Given the description of an element on the screen output the (x, y) to click on. 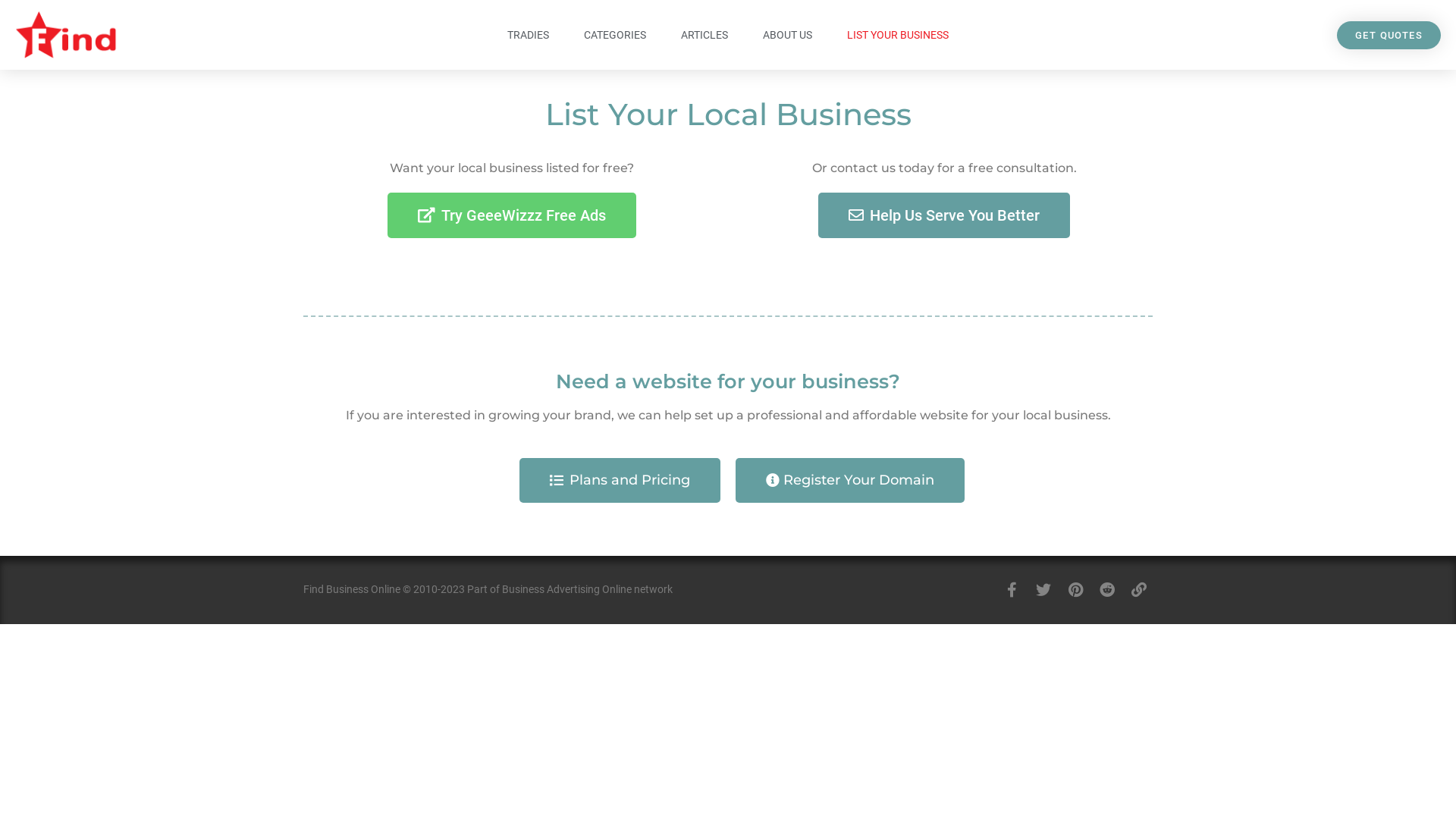
GET QUOTES Element type: text (1388, 35)
Register Your Domain Element type: text (849, 480)
ABOUT US Element type: text (787, 34)
Plans and Pricing Element type: text (619, 480)
ARTICLES Element type: text (704, 34)
LIST YOUR BUSINESS Element type: text (897, 34)
Try GeeeWizzz Free Ads Element type: text (511, 215)
CATEGORIES Element type: text (614, 34)
Help Us Serve You Better Element type: text (944, 215)
TRADIES Element type: text (528, 34)
